Given the description of an element on the screen output the (x, y) to click on. 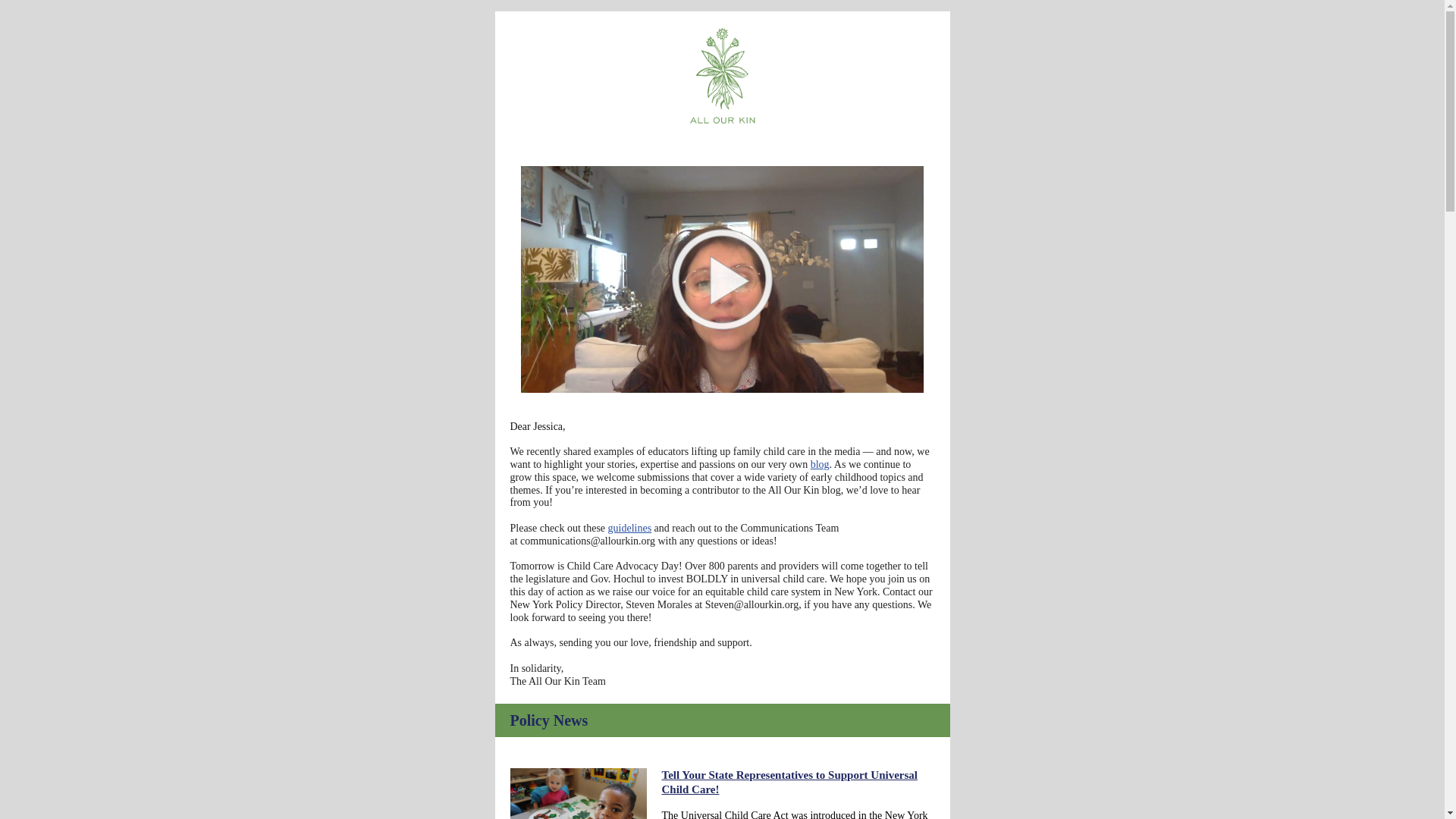
blog (819, 464)
guidelines (630, 527)
